Given the description of an element on the screen output the (x, y) to click on. 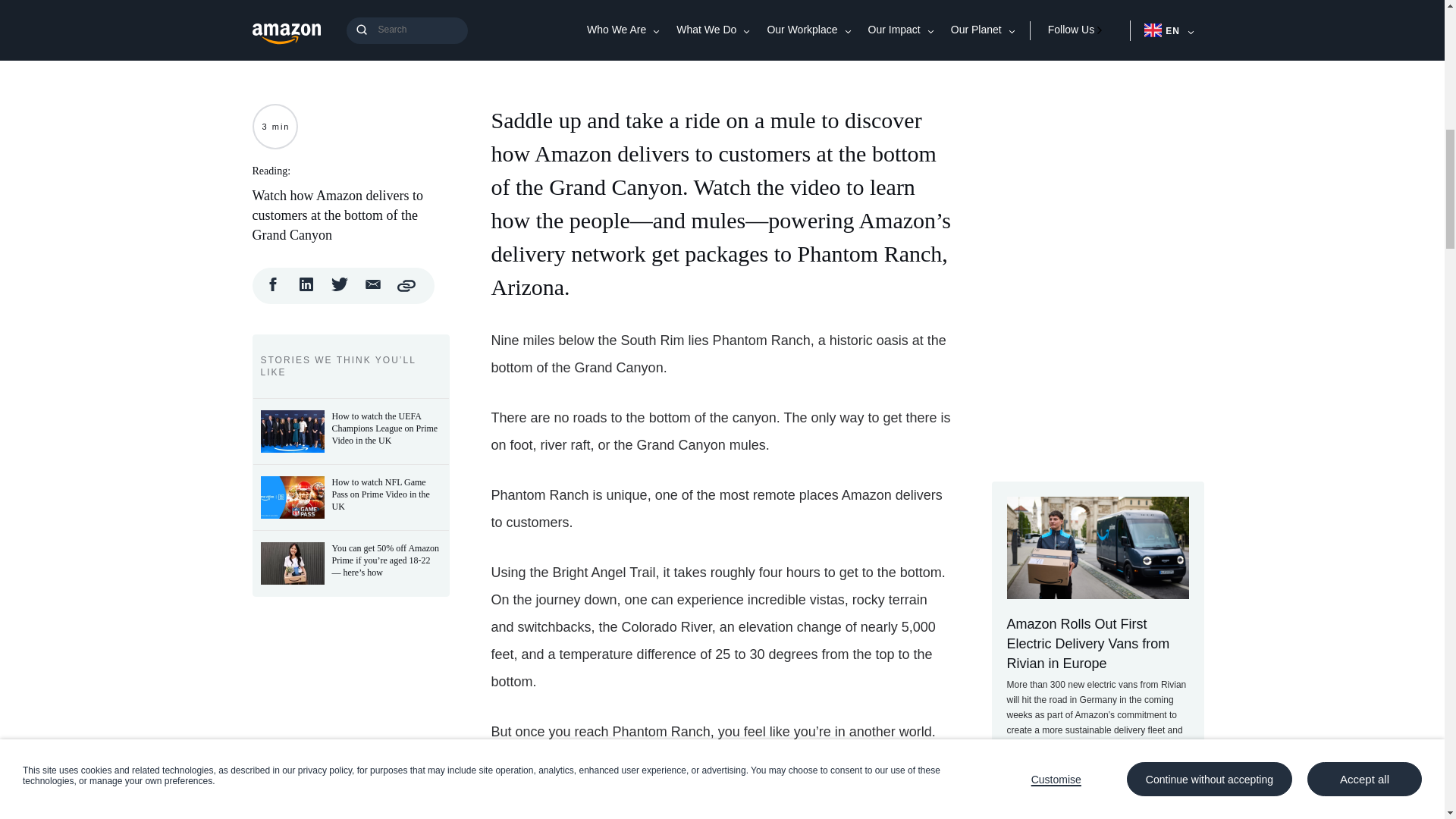
LinkedIn Share (306, 287)
Facebook Share (272, 287)
Twitter Share (339, 287)
Email Share (372, 287)
